Given the description of an element on the screen output the (x, y) to click on. 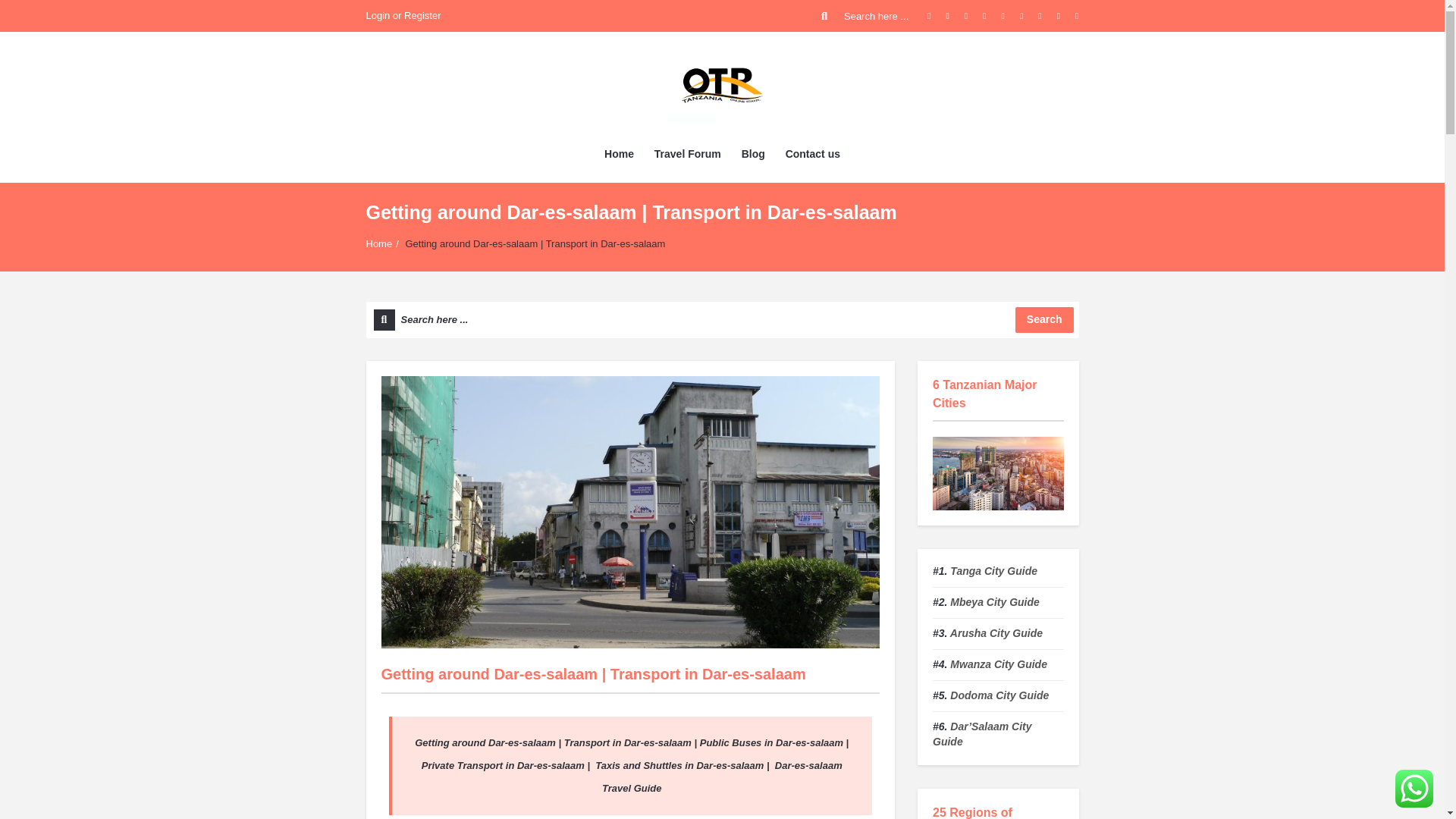
Login or Register (403, 15)
Tanzania Travel Guide  (721, 84)
Search here ... (866, 15)
Search here ... (721, 320)
Search here ... (721, 320)
Search here ... (866, 15)
